Given the description of an element on the screen output the (x, y) to click on. 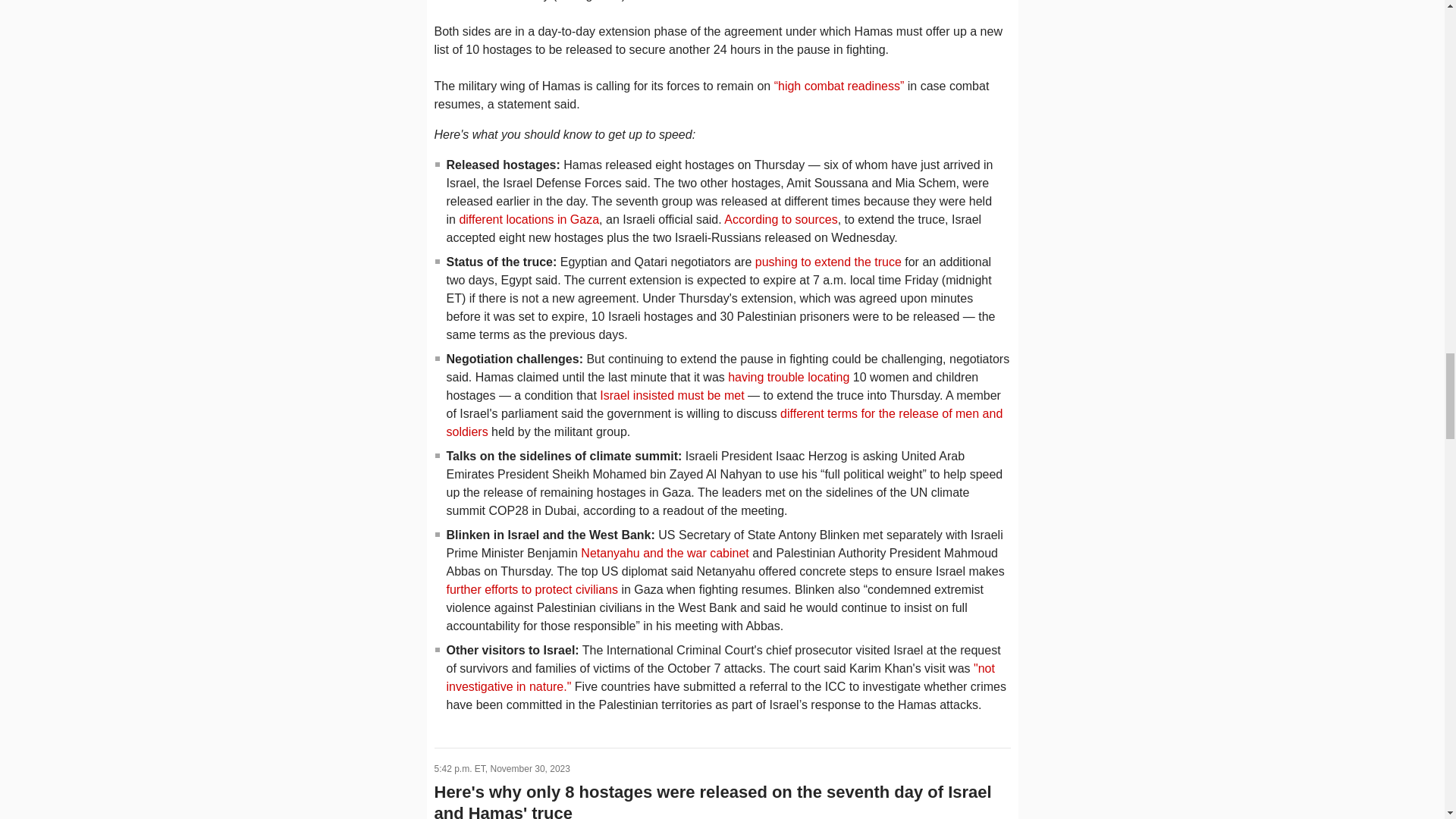
pushing to extend the truce (828, 261)
Netanyahu and the war cabinet (664, 553)
having trouble locating (788, 377)
further efforts to protect civilians (531, 589)
different terms for the release of men and soldiers (724, 422)
different locations in Gaza (528, 219)
Israel insisted must be met (673, 395)
"not investigative in nature." (719, 676)
According to sources (780, 219)
